Given the description of an element on the screen output the (x, y) to click on. 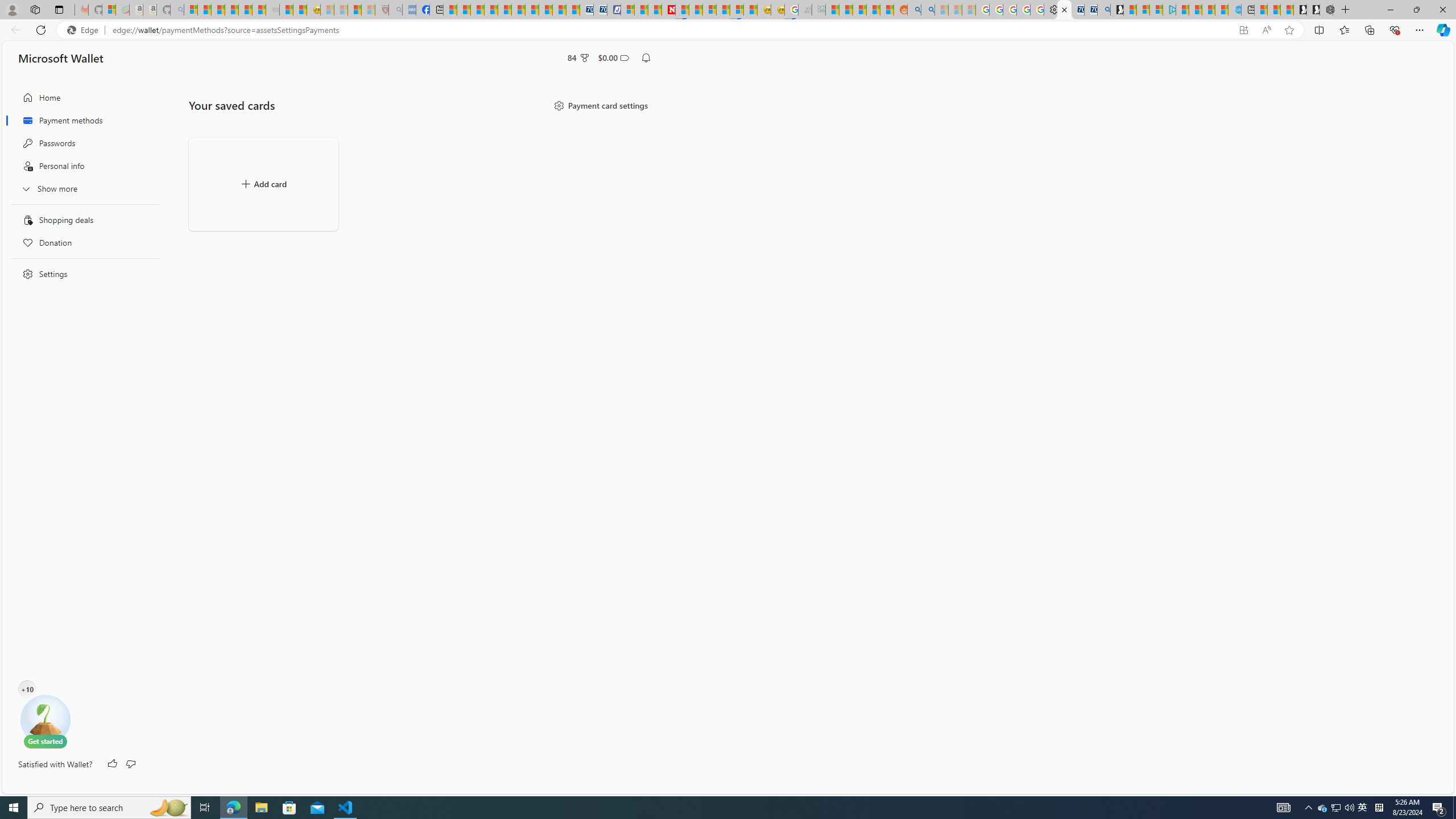
Student Loan Update: Forgiveness Program Ends This Month (873, 9)
